Given the description of an element on the screen output the (x, y) to click on. 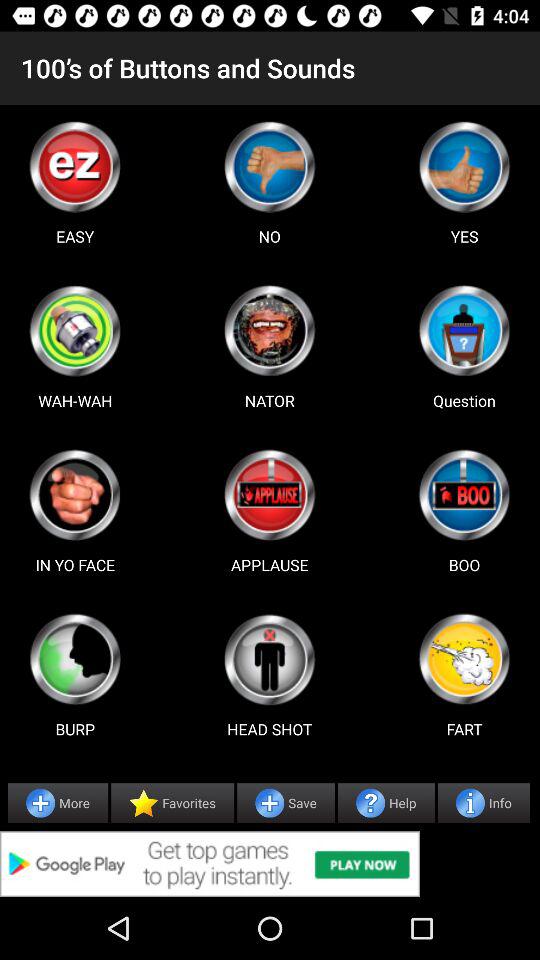
icon page (464, 659)
